Given the description of an element on the screen output the (x, y) to click on. 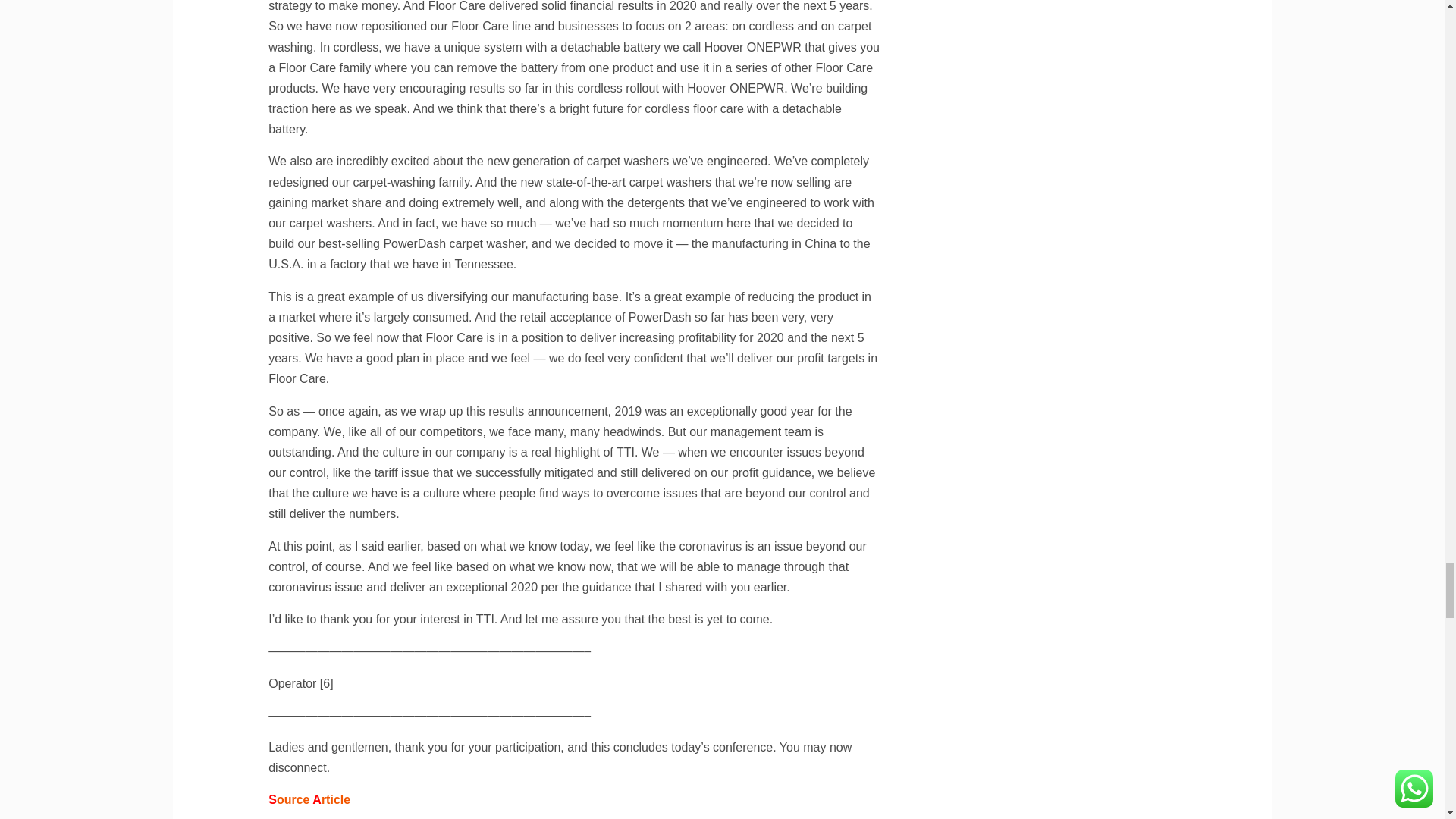
Source Article (308, 799)
